Given the description of an element on the screen output the (x, y) to click on. 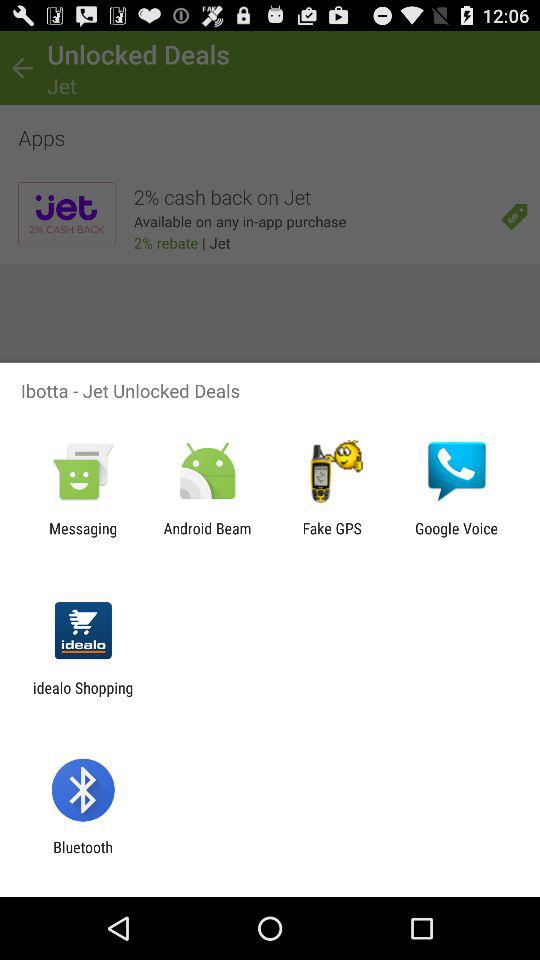
tap the android beam icon (207, 537)
